Given the description of an element on the screen output the (x, y) to click on. 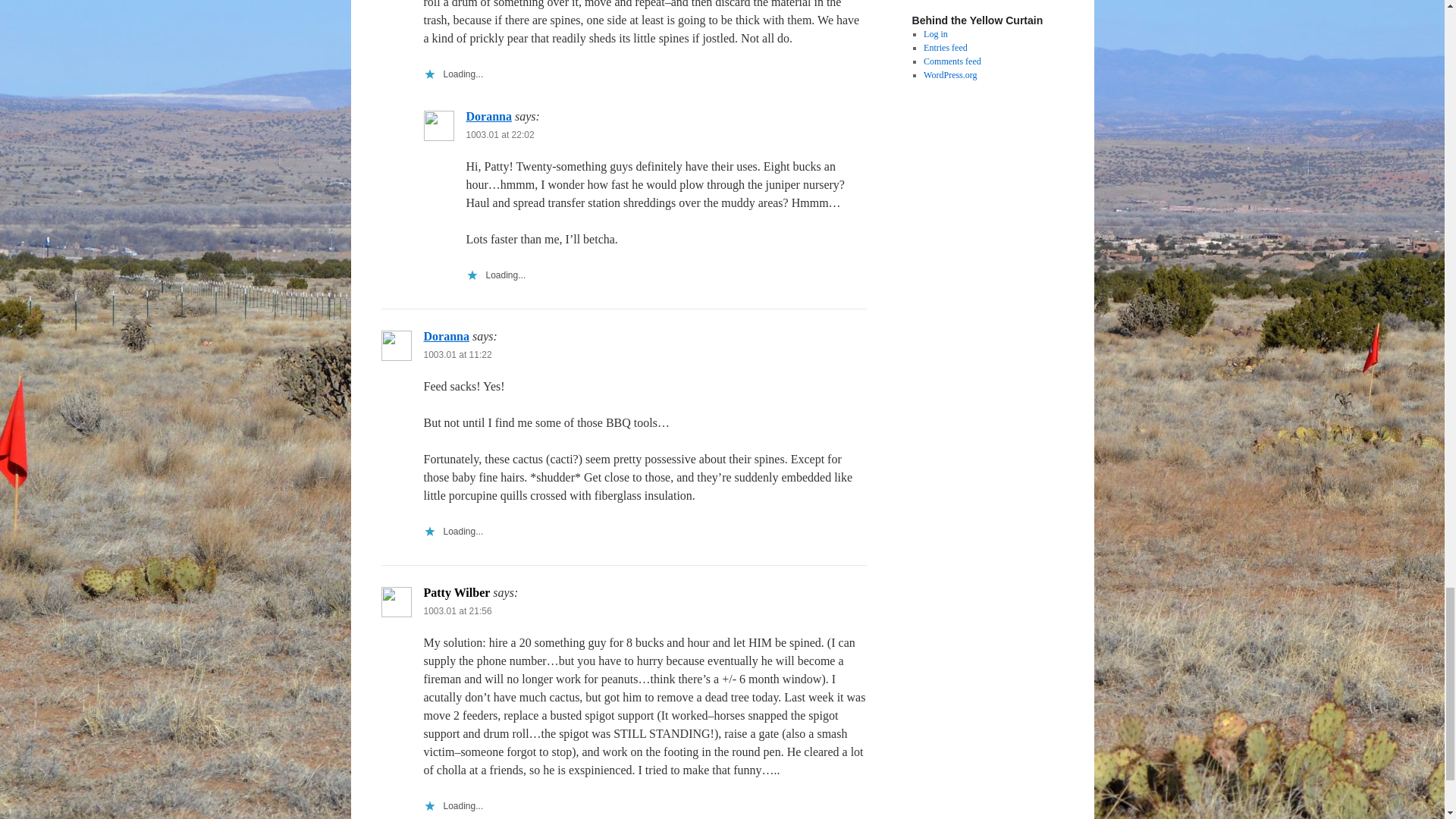
1003.01 at 11:22 (457, 354)
1003.01 at 21:56 (457, 611)
Doranna (445, 336)
1003.01 at 22:02 (499, 134)
Doranna (488, 115)
